Given the description of an element on the screen output the (x, y) to click on. 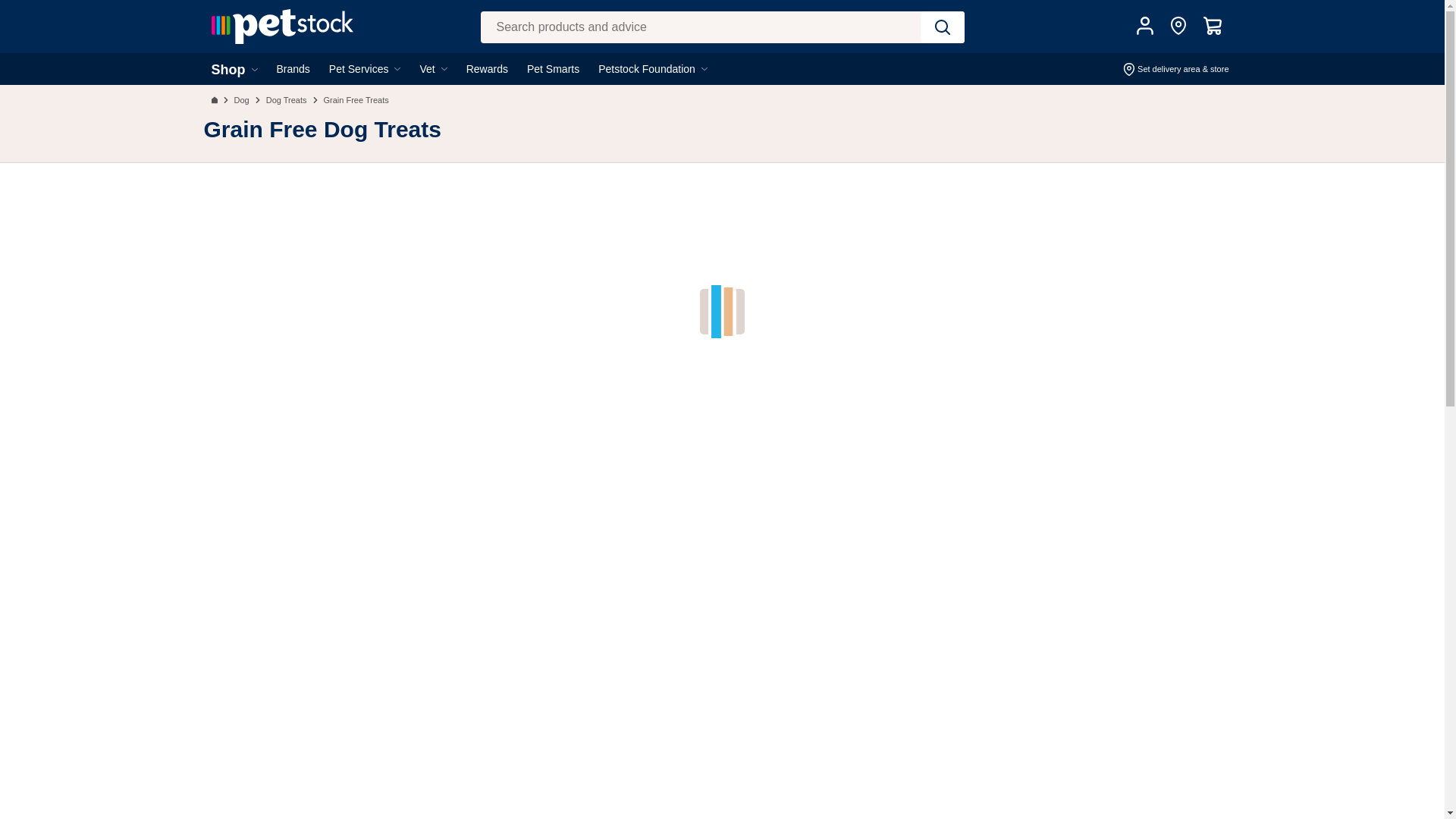
Pet Services (365, 68)
Open Vet menu (461, 84)
Dog (240, 99)
Profile (1144, 25)
Rewards (486, 68)
Vet (432, 68)
Pet Smarts (553, 68)
Shop (234, 69)
Profile (1146, 26)
Location (1179, 26)
